Given the description of an element on the screen output the (x, y) to click on. 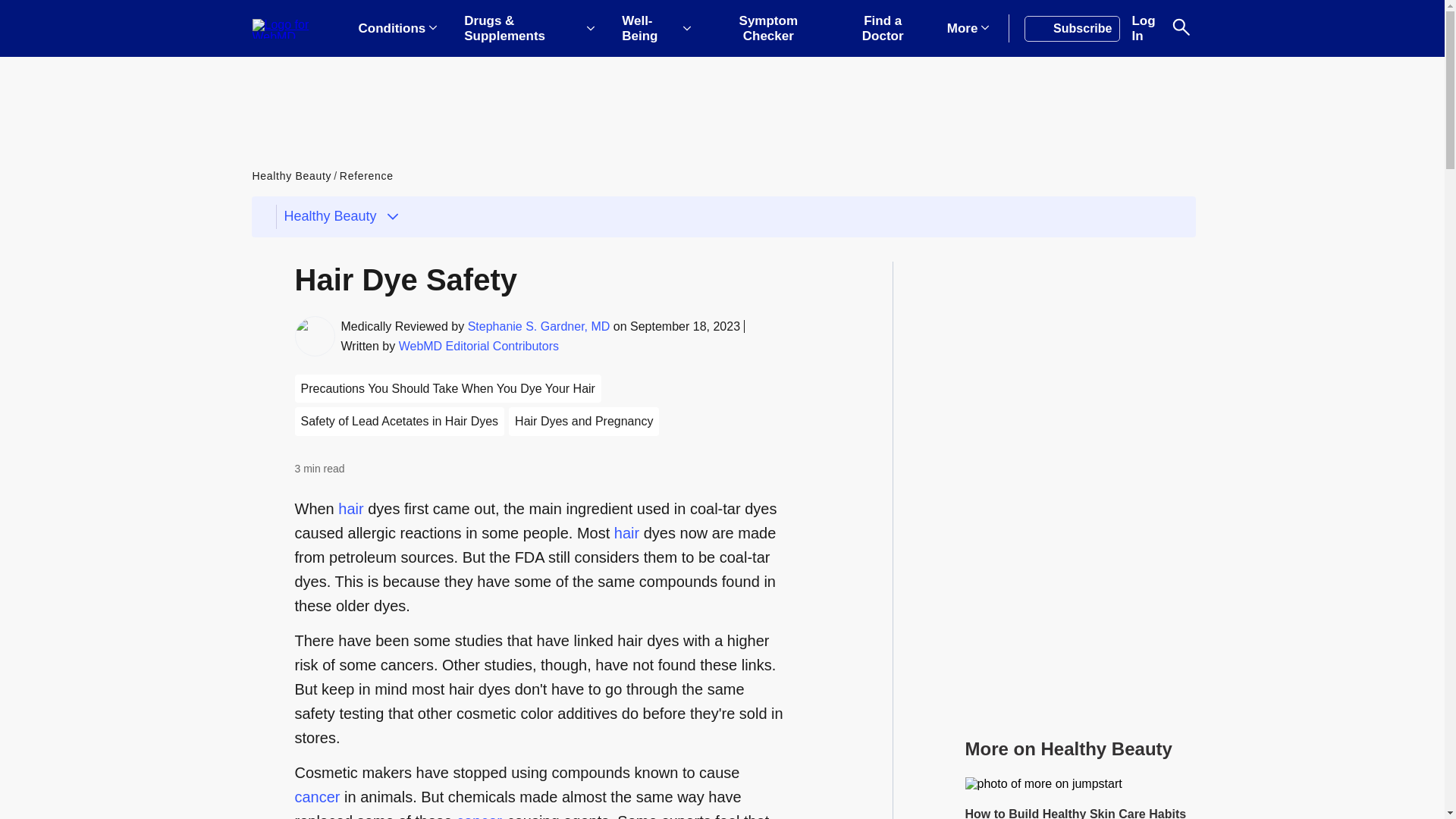
Conditions (397, 28)
